Given the description of an element on the screen output the (x, y) to click on. 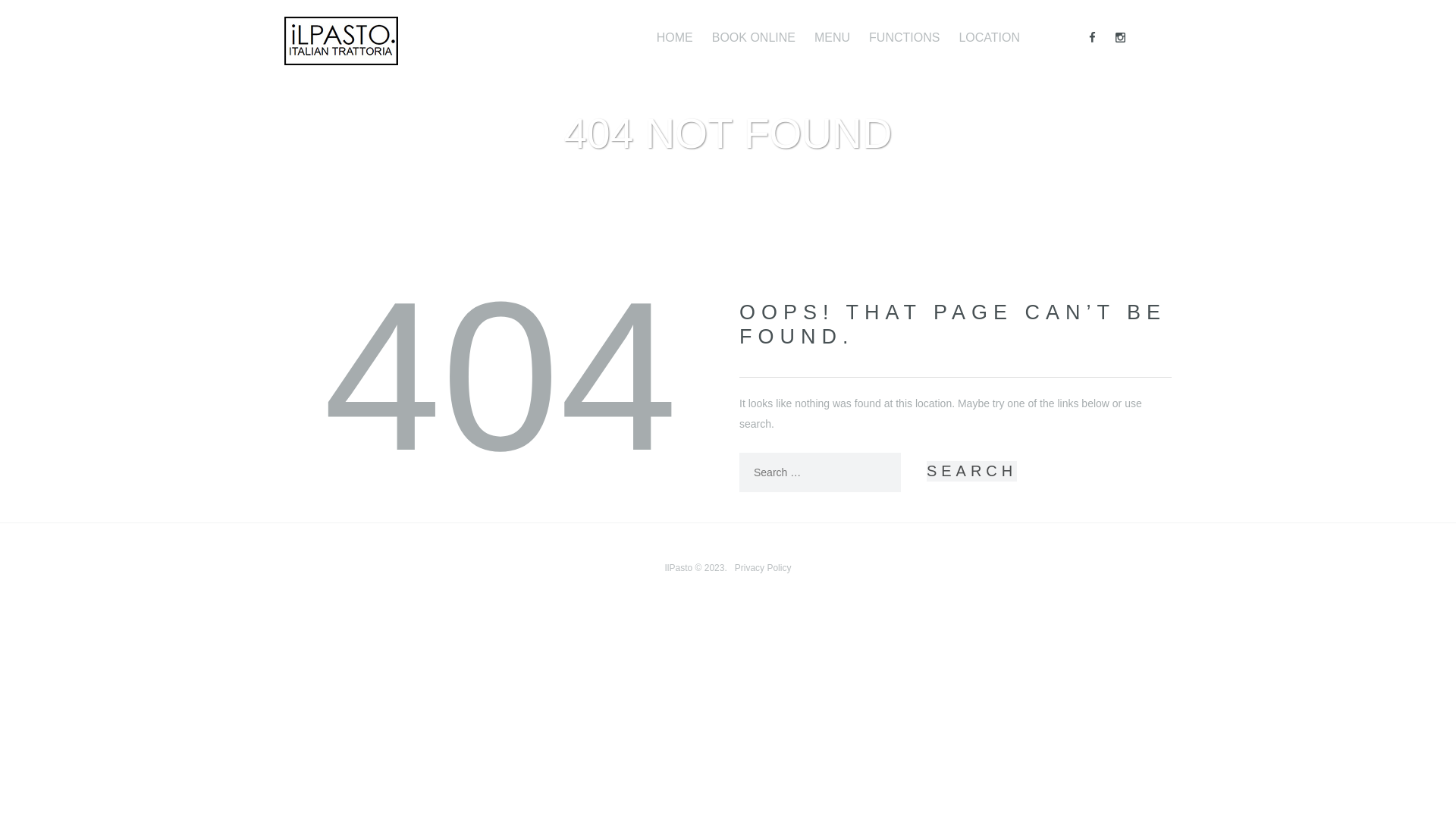
LOCATION Element type: text (988, 37)
Instagram Element type: text (1120, 37)
HOME Element type: text (674, 37)
Facebook Element type: text (1092, 37)
FUNCTIONS Element type: text (904, 37)
BOOK ONLINE Element type: text (753, 37)
IlPasto Element type: text (679, 567)
Privacy Policy Element type: text (762, 567)
MENU Element type: text (832, 37)
Search Element type: text (971, 471)
